Given the description of an element on the screen output the (x, y) to click on. 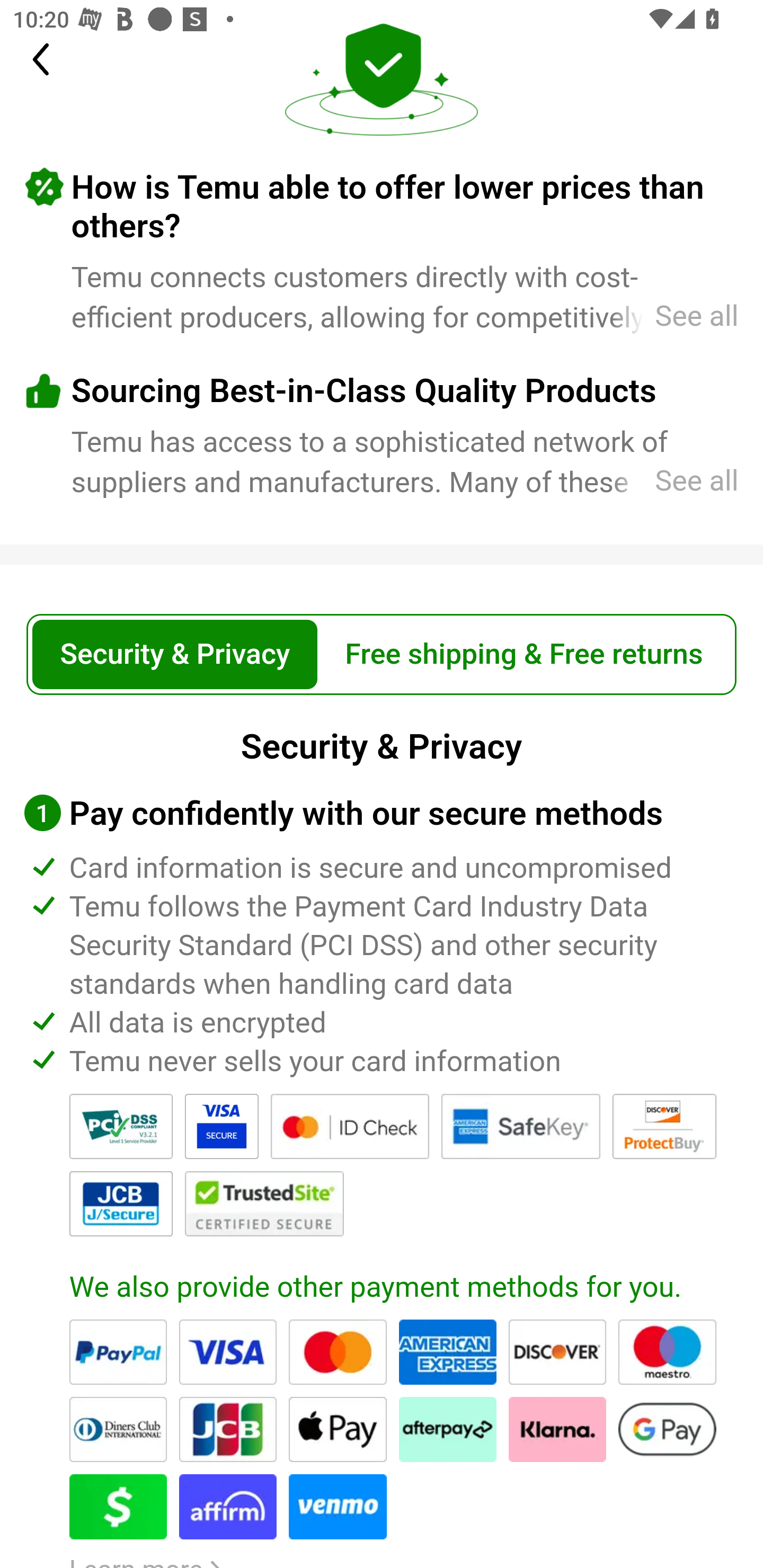
Back (51, 59)
See all (673, 317)
See all (673, 480)
Security & Privacy (175, 654)
Free shipping & Free returns (523, 654)
